Given the description of an element on the screen output the (x, y) to click on. 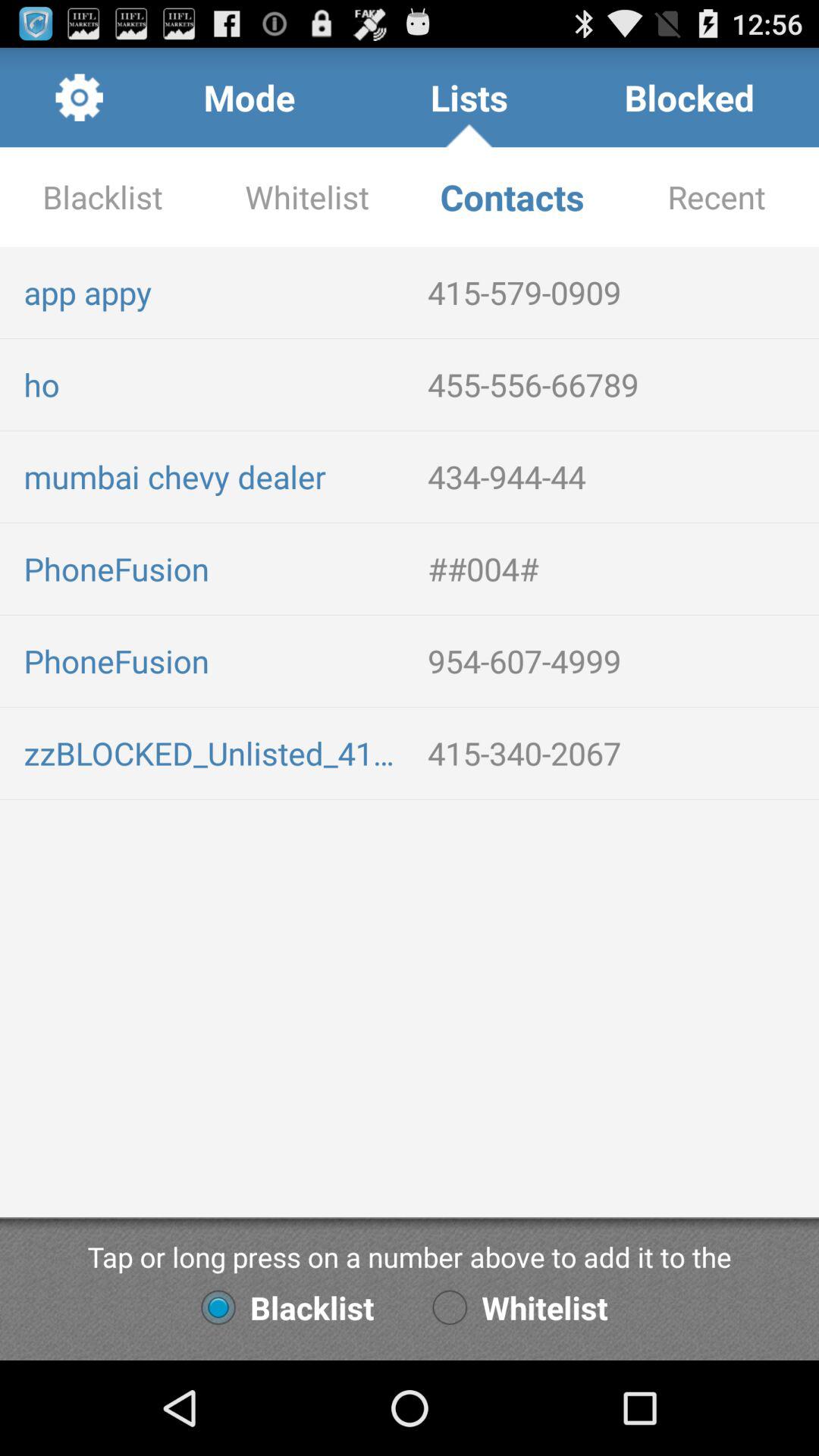
launch item below the lists app (511, 196)
